Given the description of an element on the screen output the (x, y) to click on. 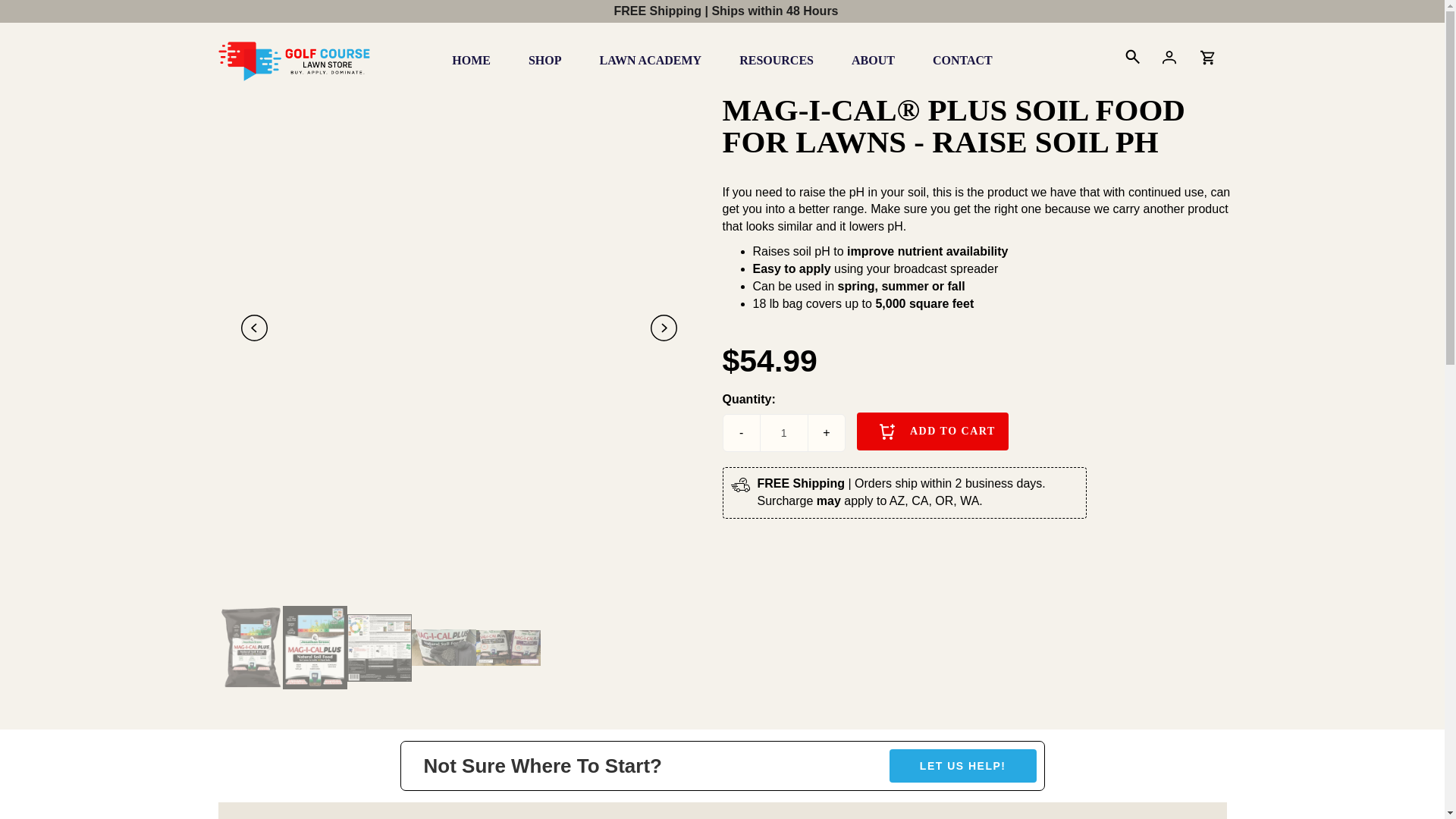
RESOURCES (776, 59)
You have 0 items in your cart (1206, 59)
SHOP (544, 59)
1 (784, 432)
CONTACT (962, 59)
ABOUT (873, 59)
My account (1168, 59)
Search (1130, 59)
HOME (470, 59)
LAWN ACADEMY (649, 59)
